Given the description of an element on the screen output the (x, y) to click on. 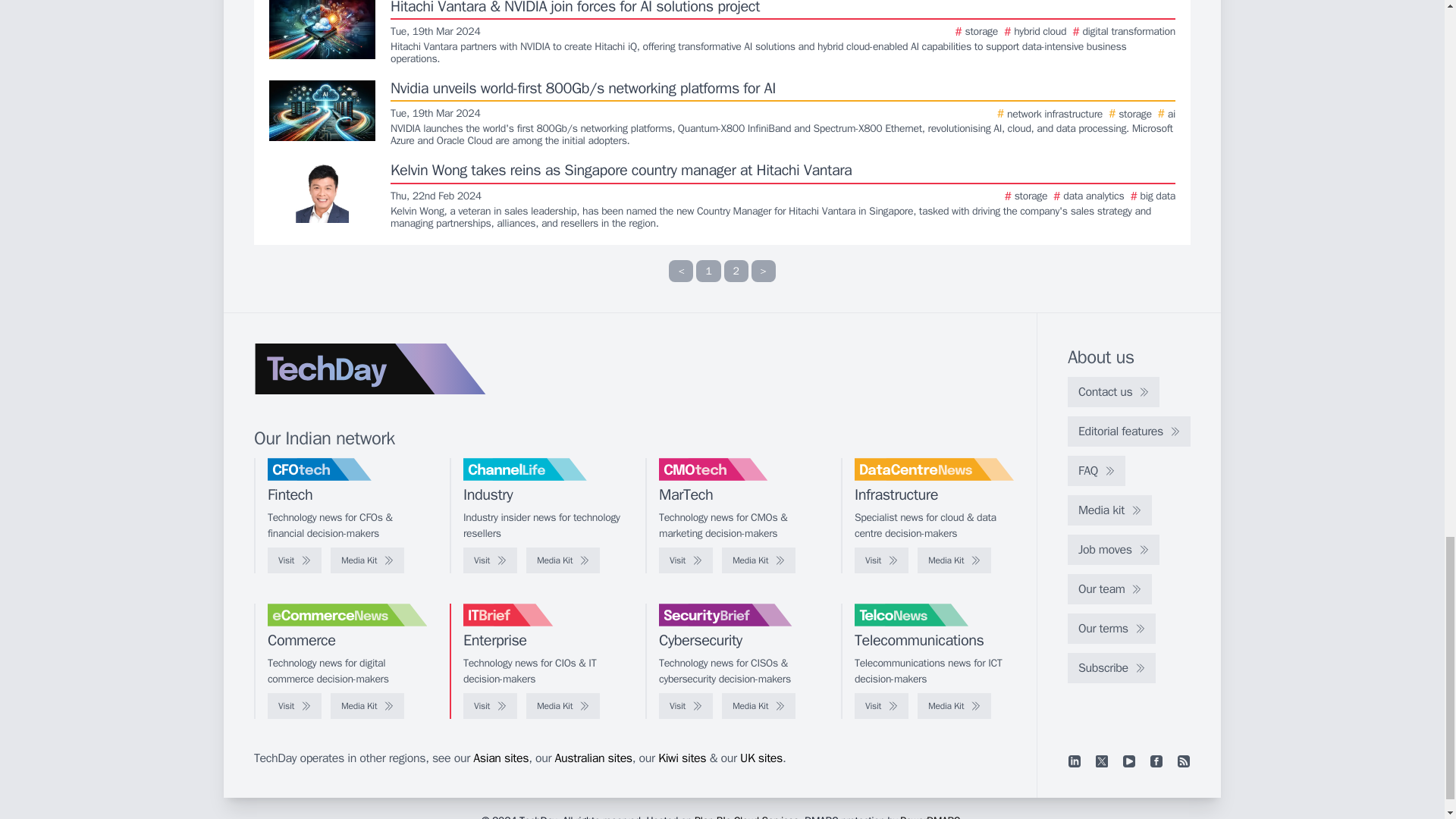
Media Kit (562, 560)
Visit (489, 560)
Media Kit (367, 560)
1 (707, 270)
Visit (294, 560)
2 (735, 270)
